Given the description of an element on the screen output the (x, y) to click on. 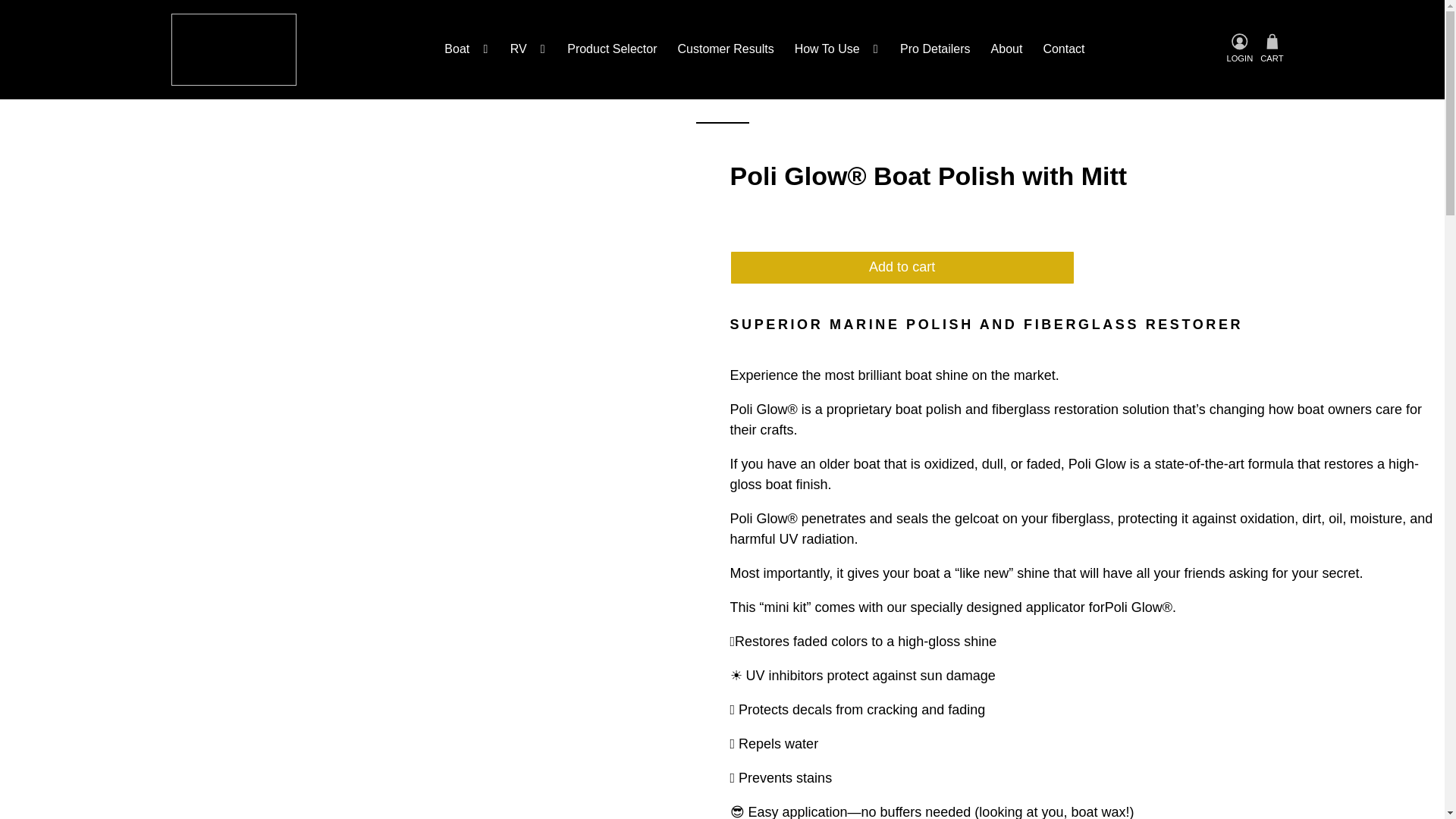
Boat (466, 49)
Pro Detailers (934, 49)
Product Selector (611, 49)
Customer Results (725, 49)
RV (527, 49)
PoliGlow (234, 49)
How To Use (836, 49)
Contact (1063, 49)
About (1005, 49)
